Given the description of an element on the screen output the (x, y) to click on. 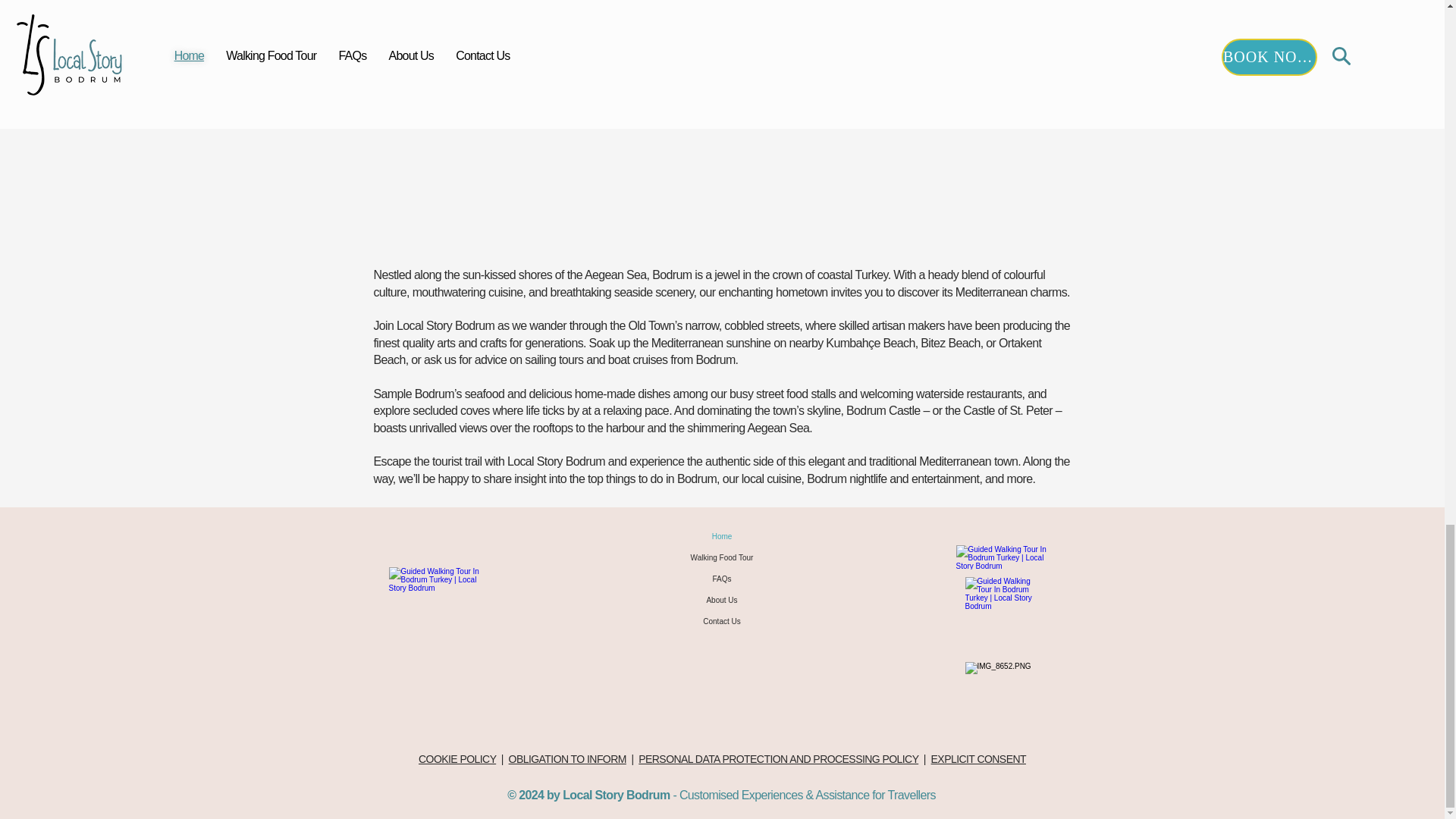
Home (722, 536)
EXPLICIT CONSENT (978, 758)
COOKIE POLICY (457, 758)
Local Story Bodrum Logo.webp (441, 609)
OBLIGATION TO INFORM (567, 758)
Walking Food Tour (722, 557)
PERSONAL DATA PROTECTION AND PROCESSING POLICY (778, 758)
FAQs (722, 578)
Contact Us (722, 621)
